Given the description of an element on the screen output the (x, y) to click on. 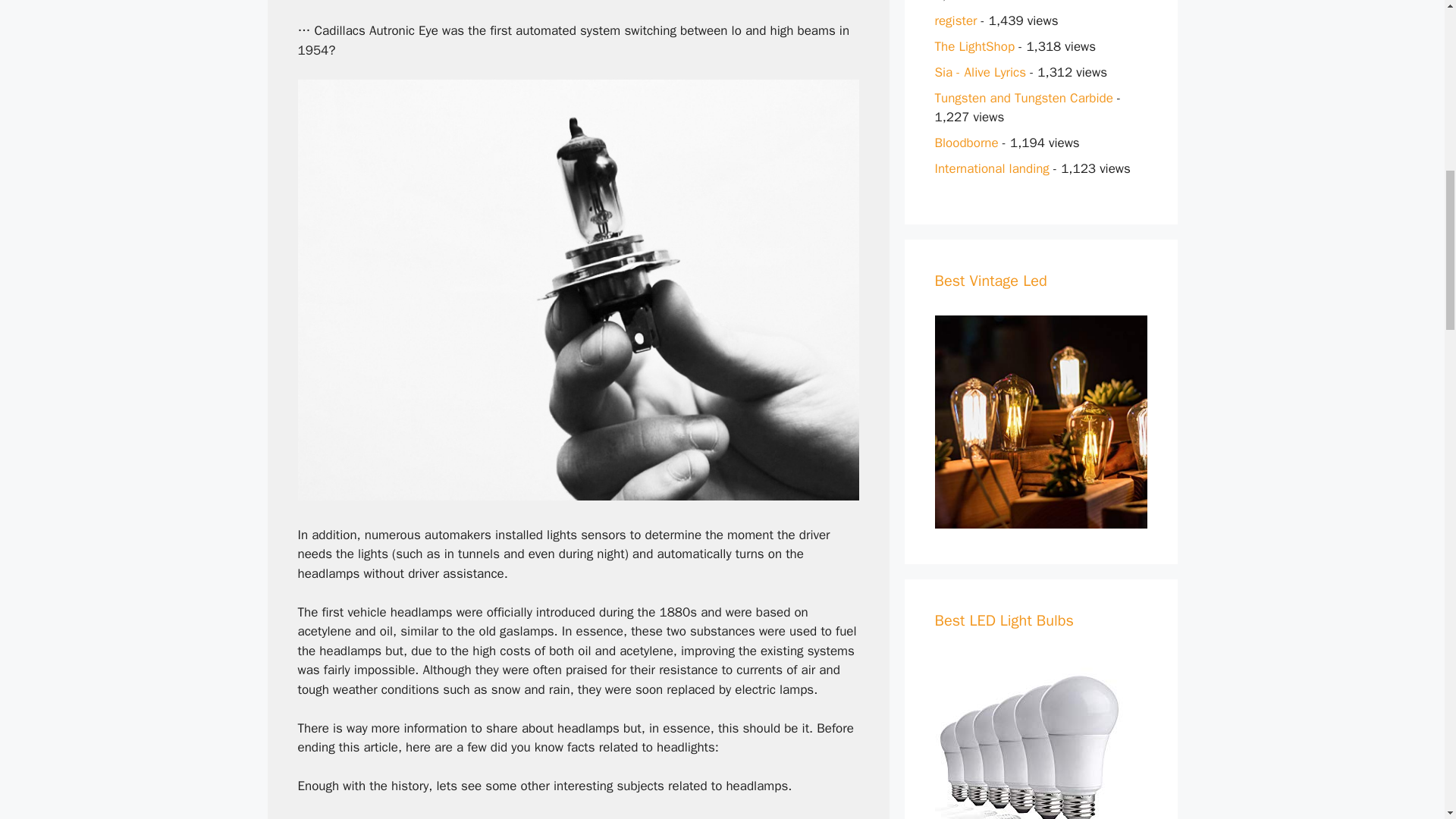
register (955, 19)
International landing (991, 168)
Sia - Alive Lyrics (980, 71)
register (955, 19)
The LightShop (974, 45)
The LightShop (974, 45)
Bloodborne (965, 142)
Tungsten and Tungsten Carbide (1023, 97)
Bloodborne (965, 142)
Sia - Alive Lyrics (980, 71)
Tungsten and Tungsten Carbide (1023, 97)
